Given the description of an element on the screen output the (x, y) to click on. 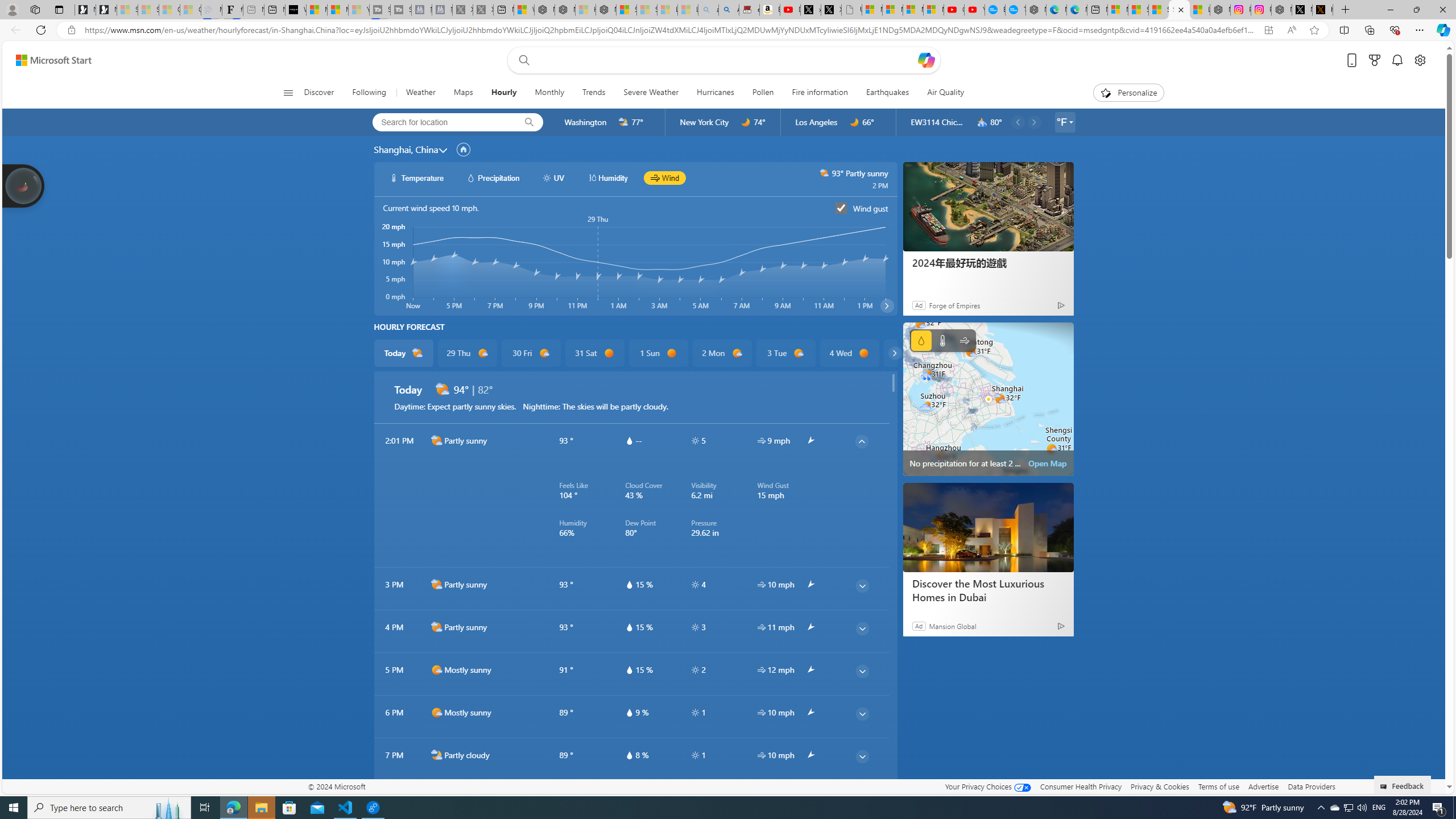
Join us in planting real trees to help our planet! (23, 184)
Consumer Health Privacy (1080, 786)
The most popular Google 'how to' searches (1015, 9)
Hurricanes (715, 92)
n0000 (854, 121)
Temperature (942, 340)
Trends (593, 92)
Shanghai, China (406, 149)
Nordace - Nordace has arrived Hong Kong (1035, 9)
Pollen (762, 92)
Skip to content (49, 59)
Discover the Most Luxurious Homes in Dubai (988, 527)
